Given the description of an element on the screen output the (x, y) to click on. 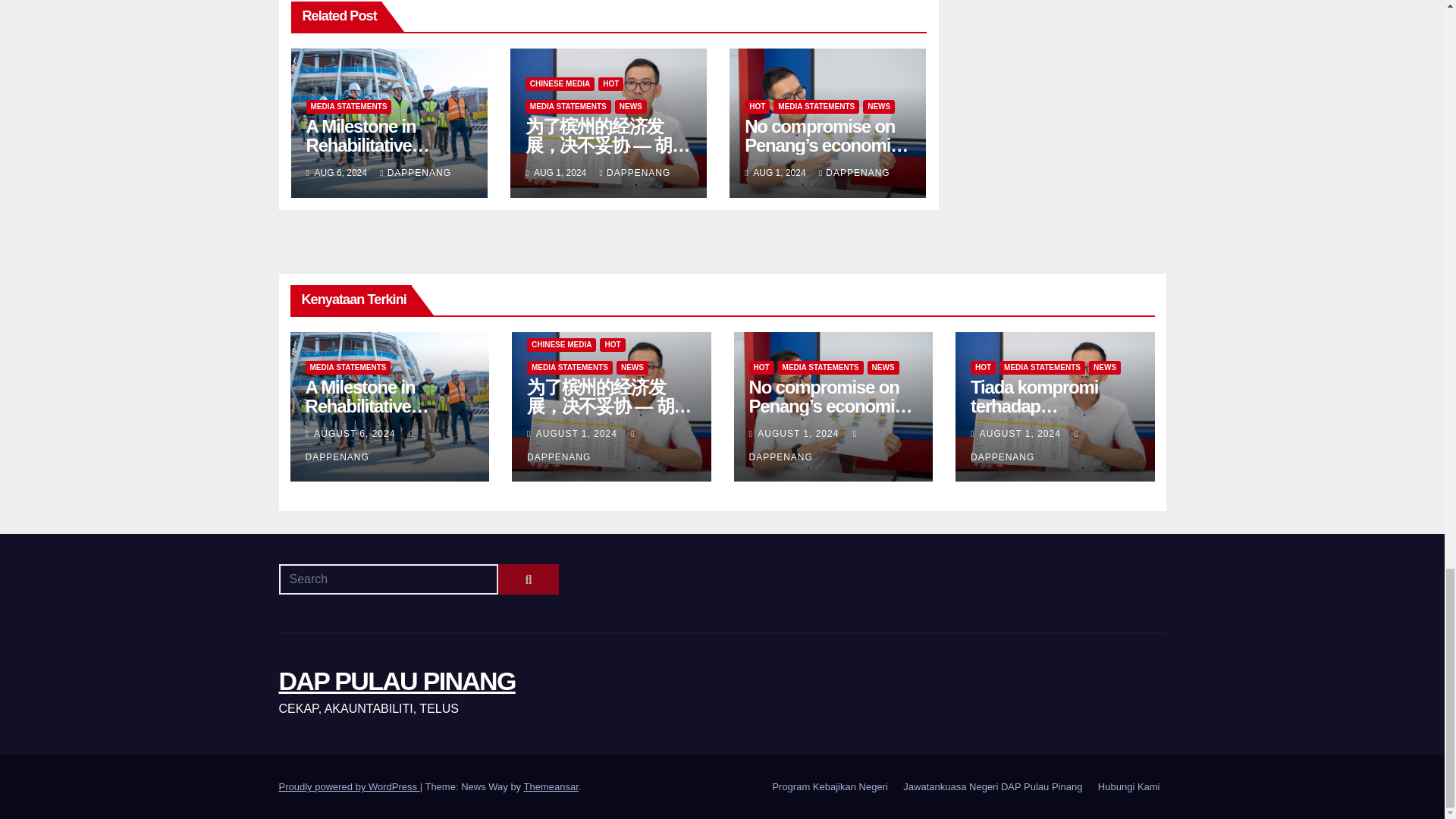
NEWS (630, 106)
CHINESE MEDIA (559, 83)
MEDIA STATEMENTS (348, 106)
Program Kebajikan Negeri (829, 786)
DAPPENANG (635, 172)
HOT (610, 83)
DAPPENANG (415, 172)
Hubungi Kami (1129, 786)
